Given the description of an element on the screen output the (x, y) to click on. 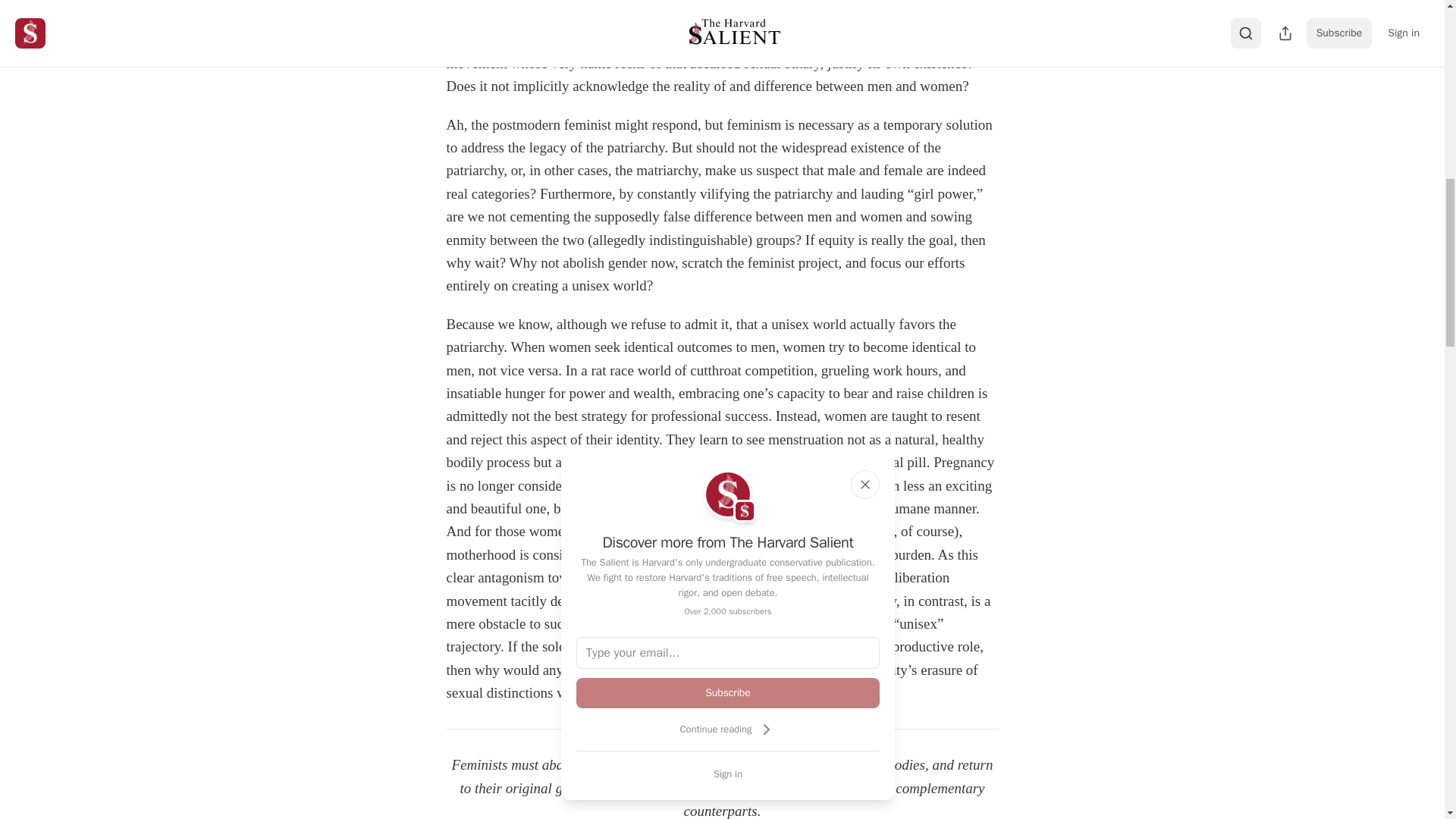
Sign in (727, 773)
Subscribe (727, 693)
